Given the description of an element on the screen output the (x, y) to click on. 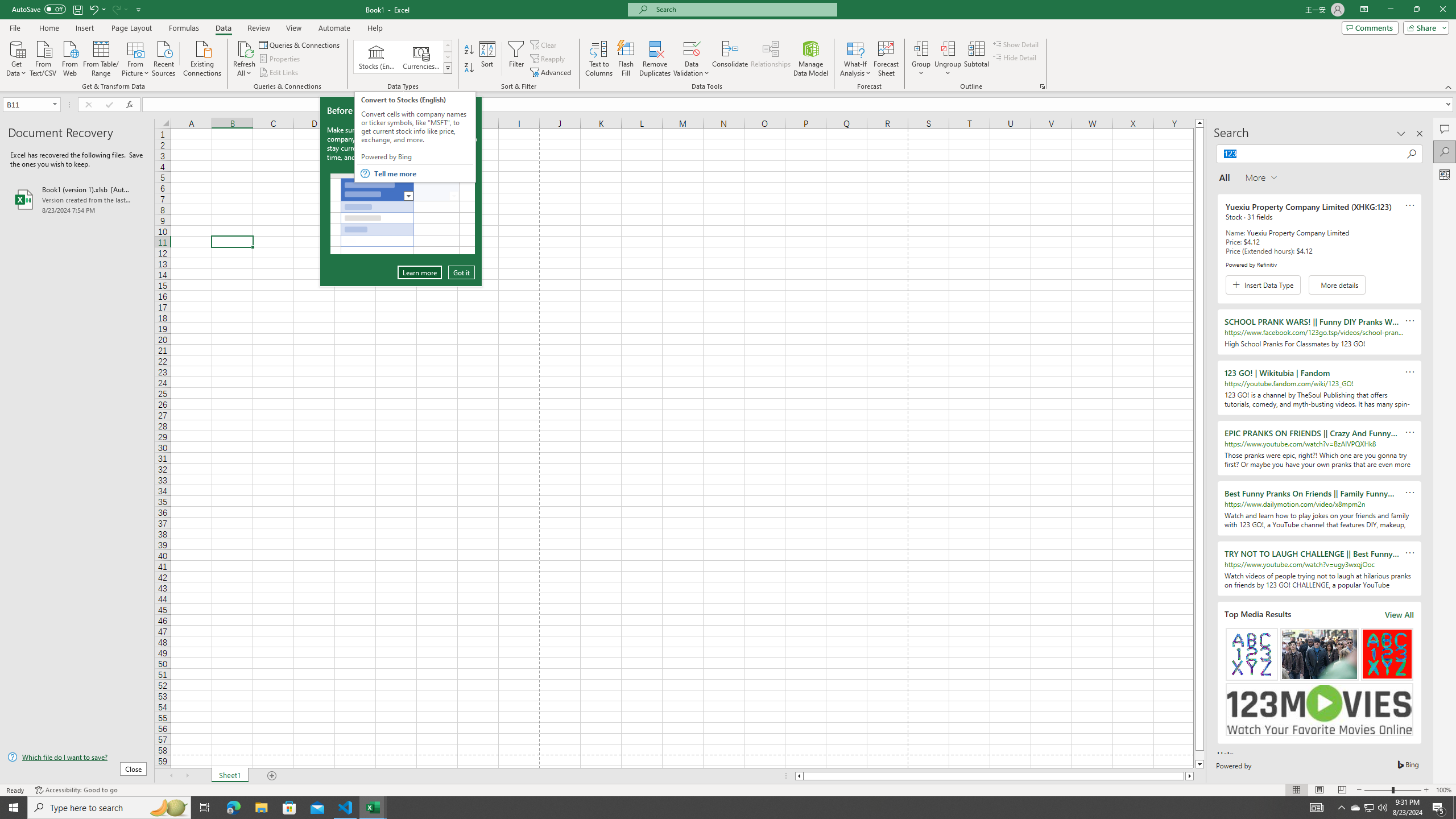
Q2790: 100% (1382, 807)
